Given the description of an element on the screen output the (x, y) to click on. 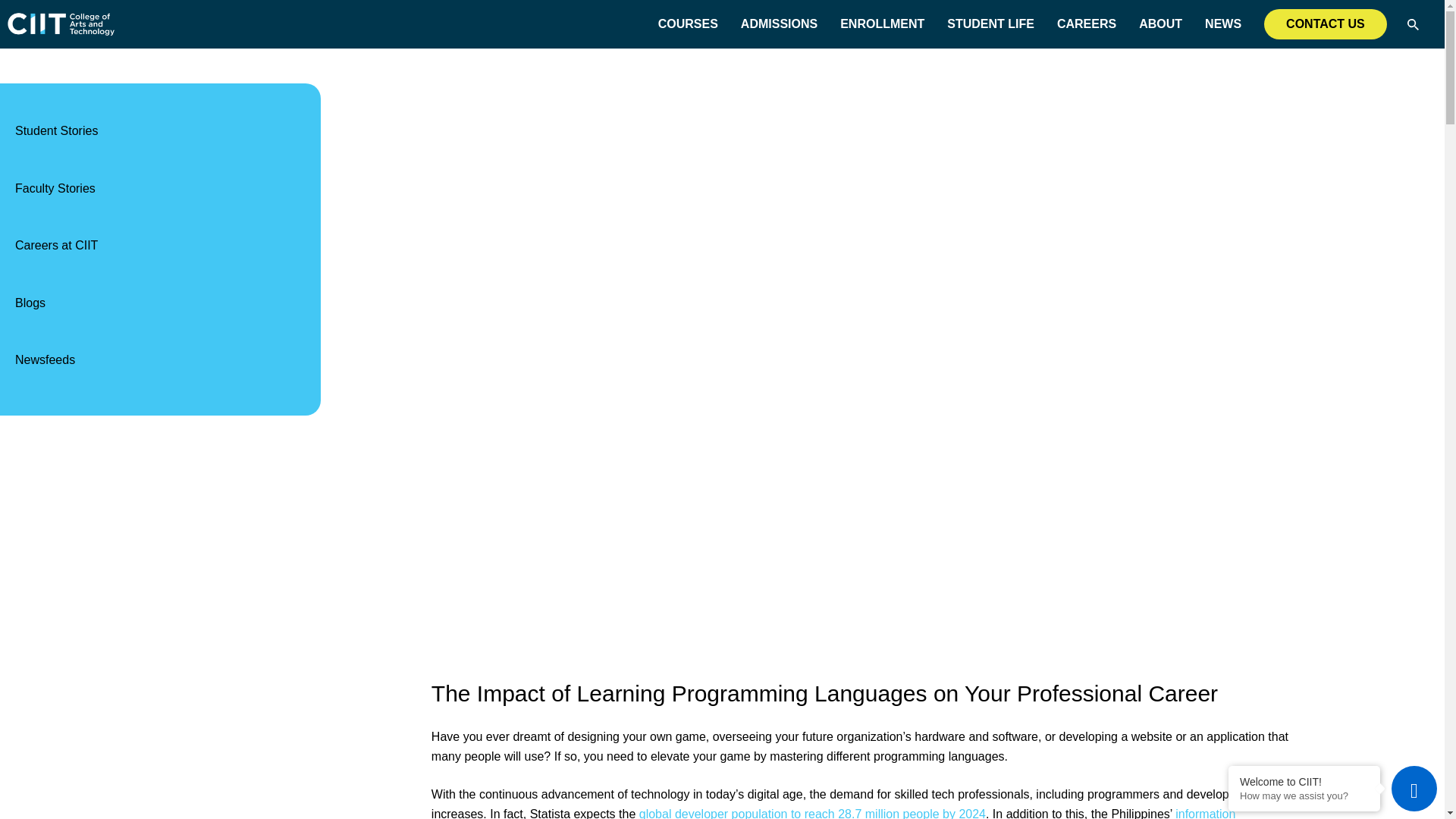
COURSES (687, 24)
ADMISSIONS (778, 24)
CAREERS (1086, 24)
STUDENT LIFE (990, 24)
ENROLLMENT (882, 24)
ABOUT (1160, 24)
CONTACT US (1325, 24)
Welcome to CIIT! (1304, 781)
How may we assist you? (1304, 795)
NEWS (1223, 24)
